Given the description of an element on the screen output the (x, y) to click on. 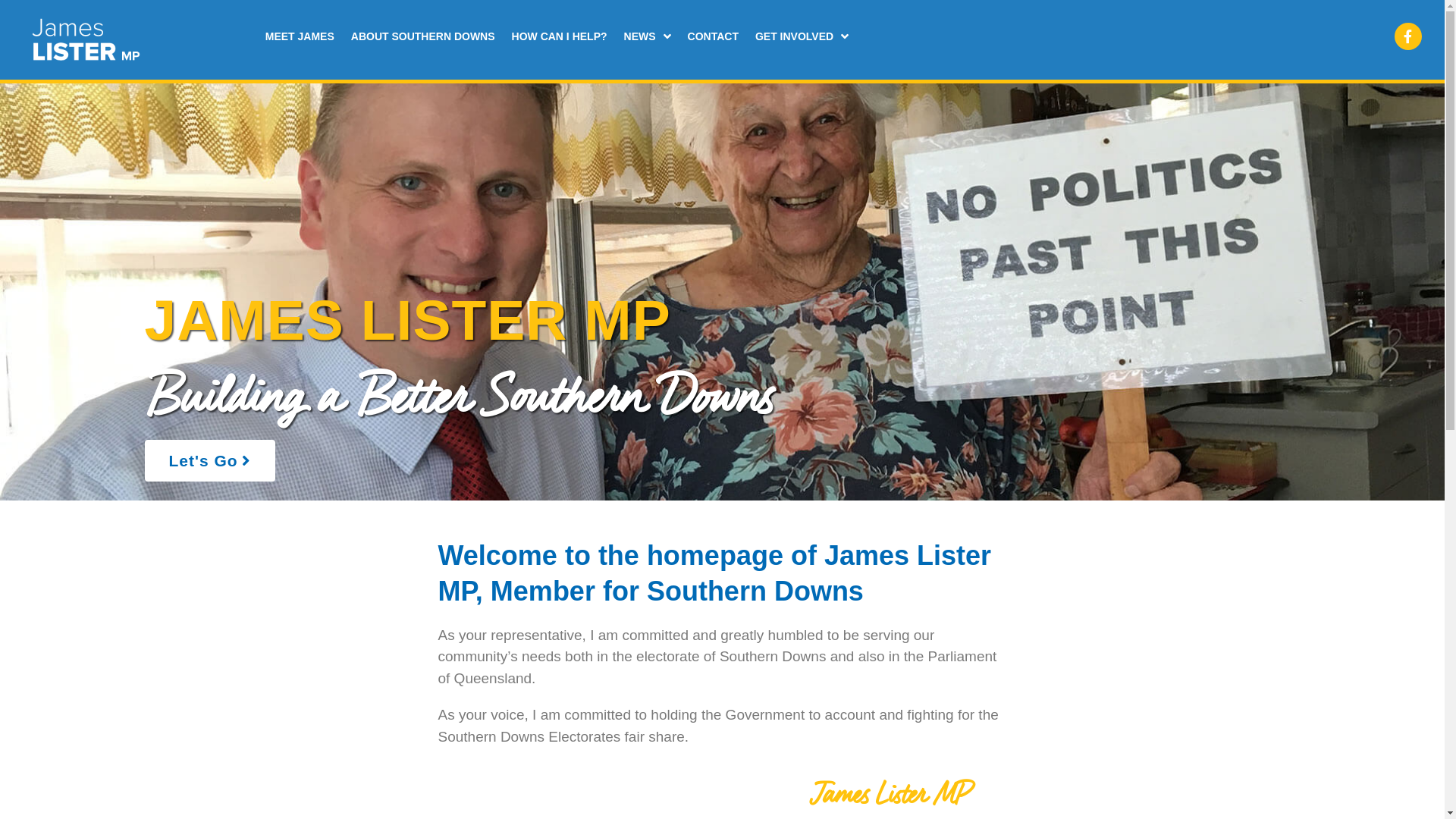
CONTACT Element type: text (713, 35)
Let's Go Element type: text (209, 460)
MEET JAMES Element type: text (299, 35)
HOW CAN I HELP? Element type: text (559, 35)
ABOUT SOUTHERN DOWNS Element type: text (422, 35)
NEWS Element type: text (647, 35)
GET INVOLVED Element type: text (801, 35)
